Given the description of an element on the screen output the (x, y) to click on. 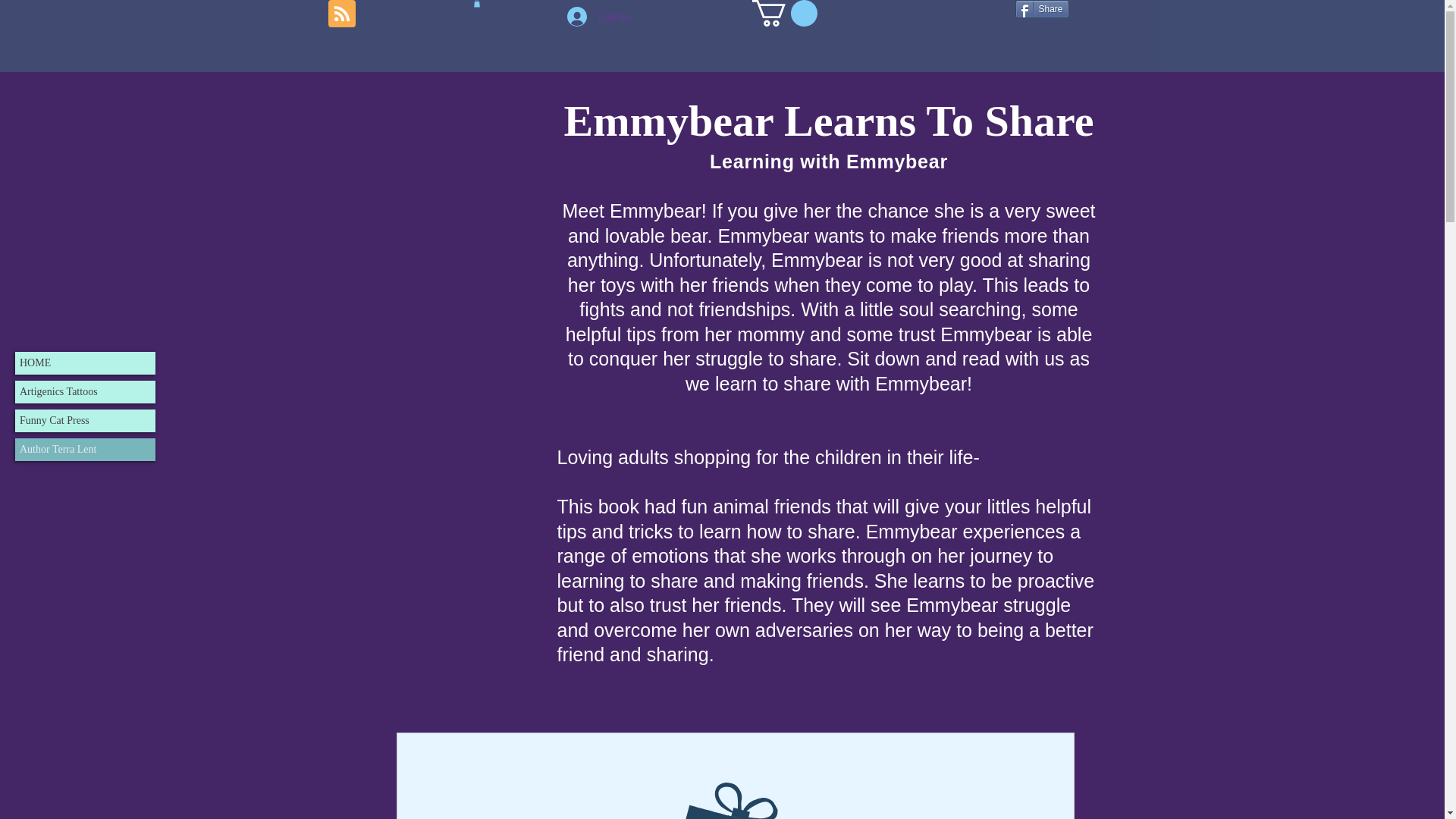
Share (1041, 9)
HOME (84, 363)
Share (1041, 9)
Log In (598, 15)
Artigenics Tattoos (84, 391)
